Given the description of an element on the screen output the (x, y) to click on. 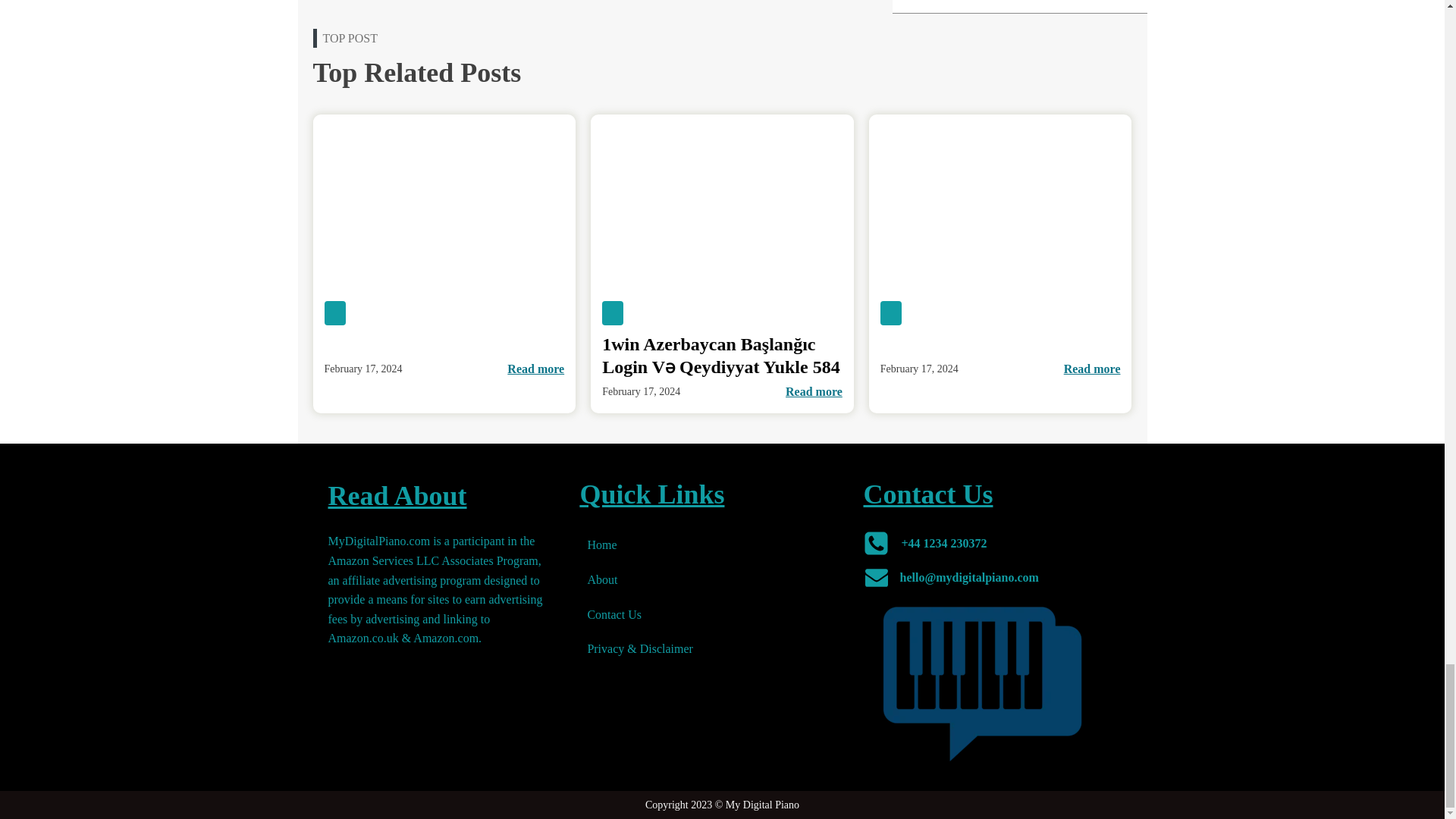
Read more (535, 369)
Home (639, 544)
Contact Us (639, 614)
Read more (1092, 369)
About (639, 579)
Read more (814, 392)
